Given the description of an element on the screen output the (x, y) to click on. 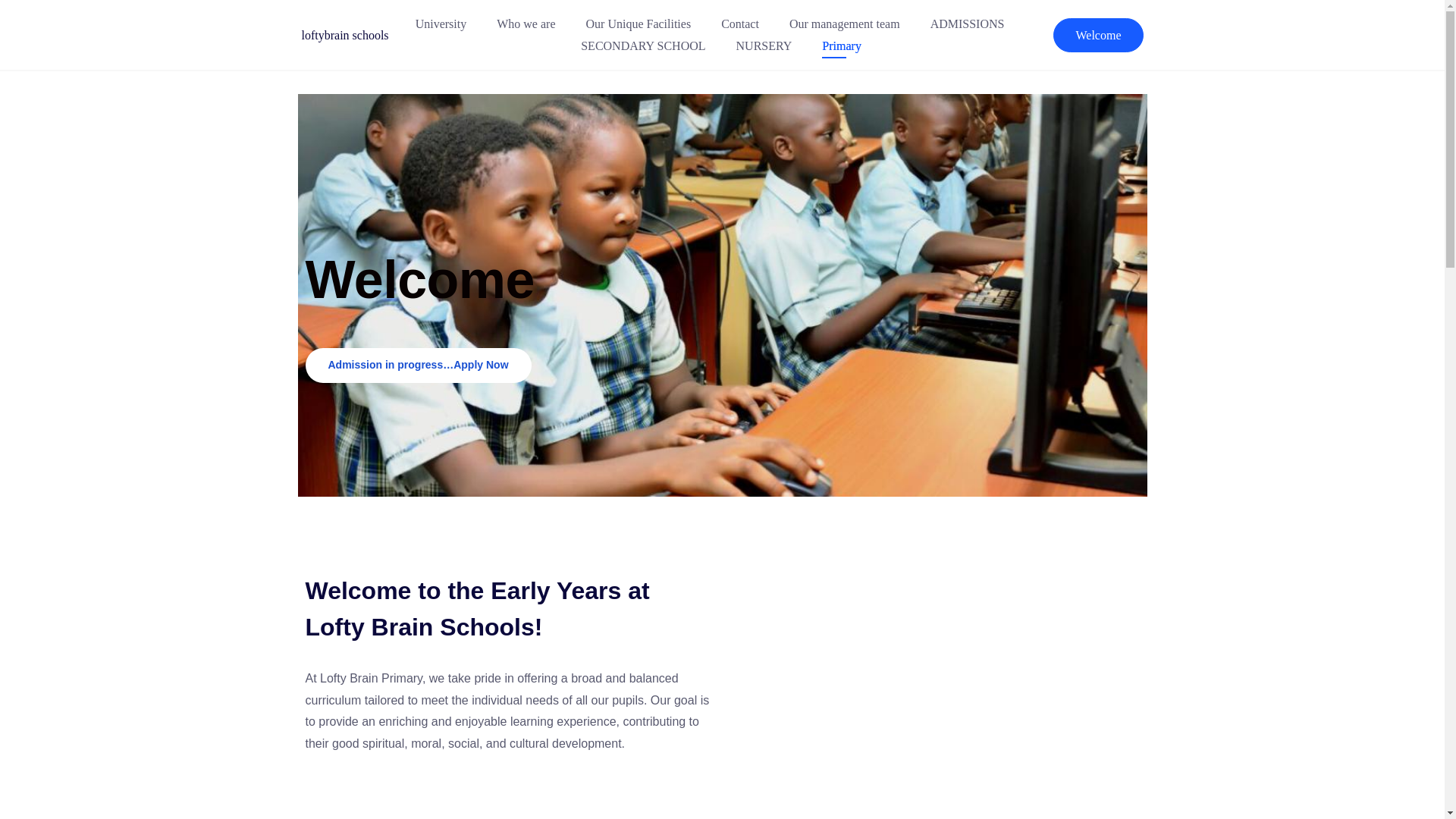
Primary (841, 45)
Welcome (1097, 35)
NURSERY (764, 45)
University (441, 24)
loftybrain schools (344, 34)
Our Unique Facilities (638, 24)
Contact (739, 24)
Our management team (845, 24)
ADMISSIONS (967, 24)
SECONDARY SCHOOL (642, 45)
